Given the description of an element on the screen output the (x, y) to click on. 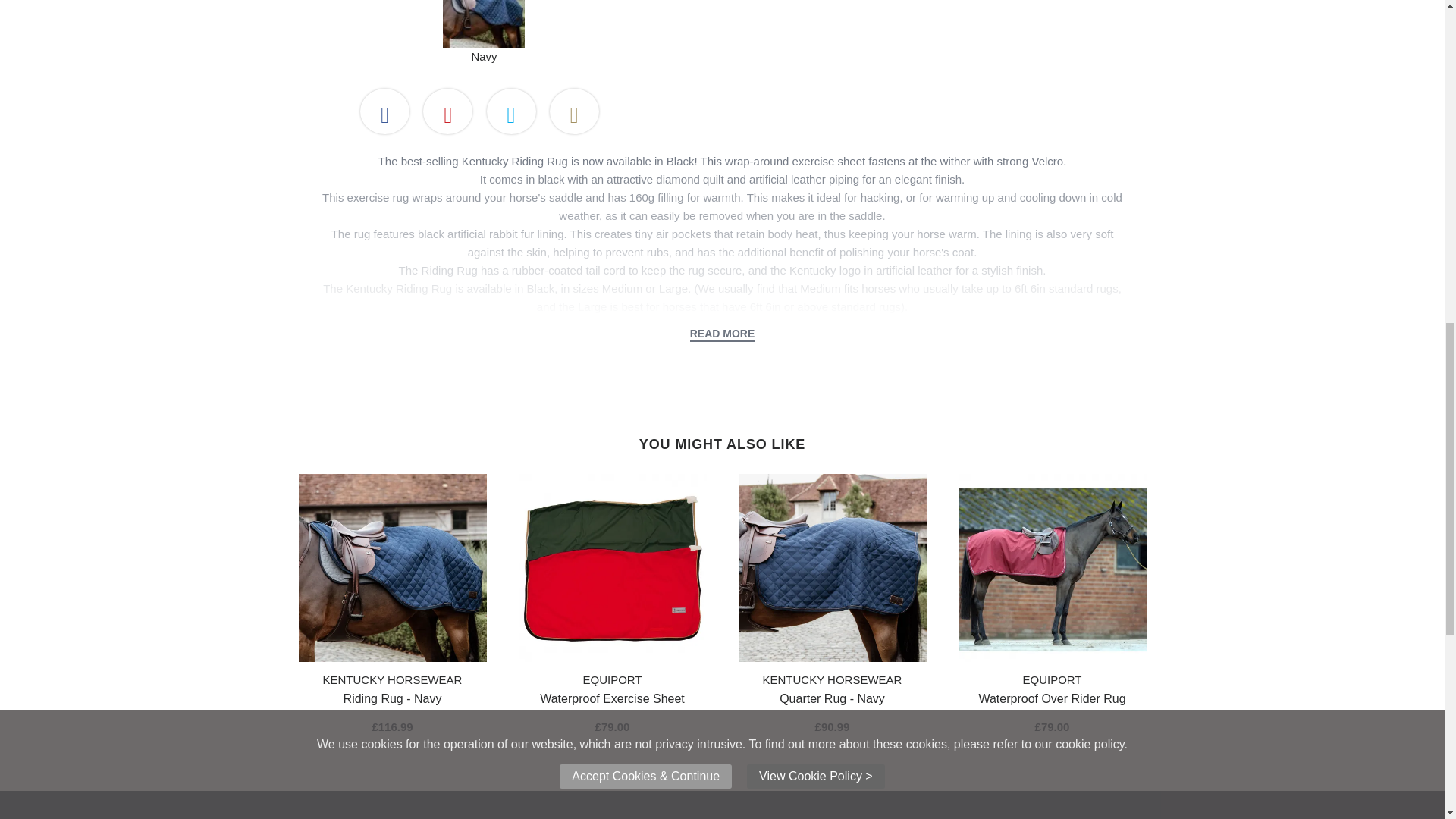
Navy (483, 23)
